Given the description of an element on the screen output the (x, y) to click on. 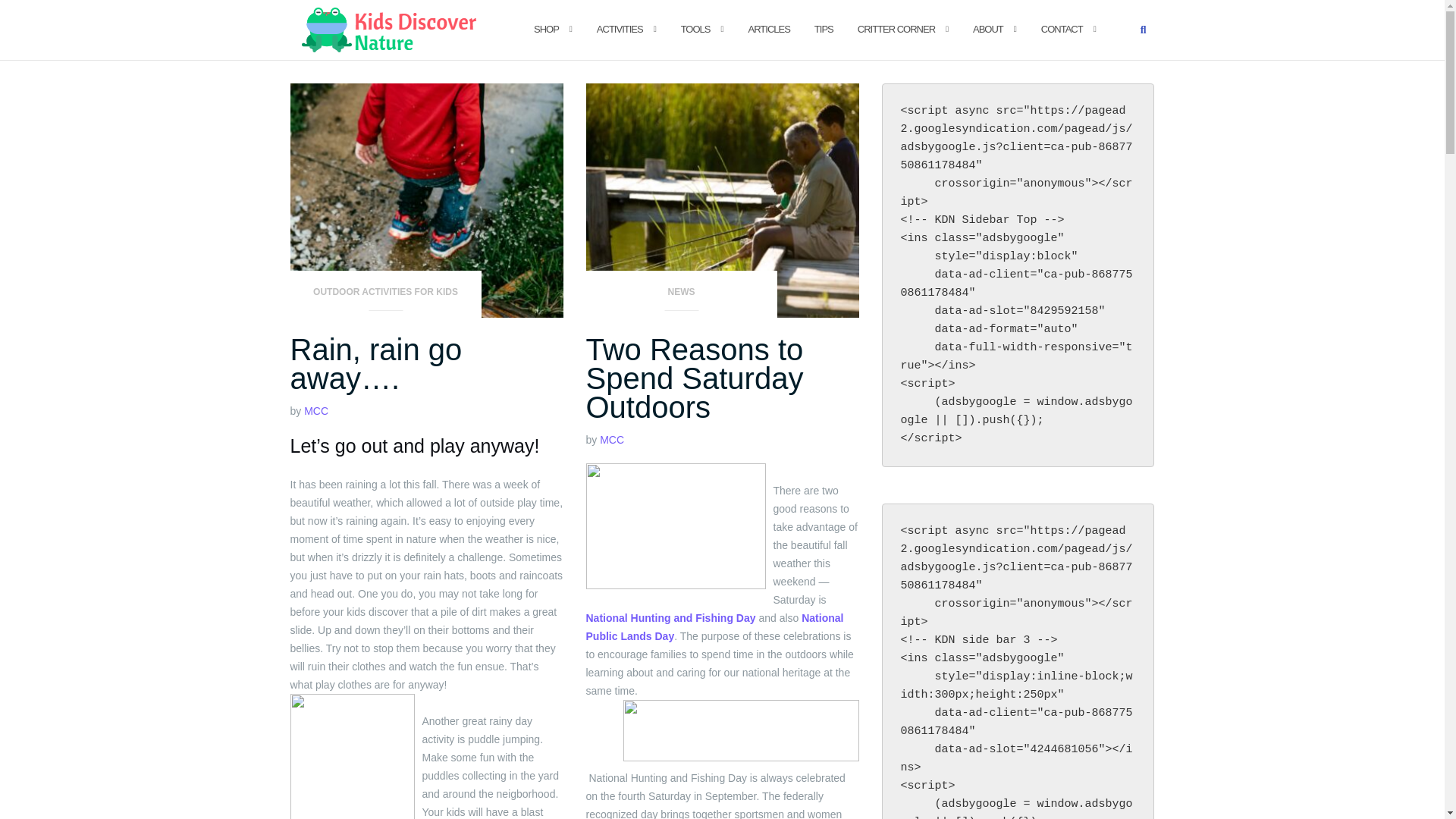
CRITTER CORNER (895, 29)
Activities (619, 29)
CONTACT (1062, 29)
ARTICLES (768, 29)
ACTIVITIES (619, 29)
